Given the description of an element on the screen output the (x, y) to click on. 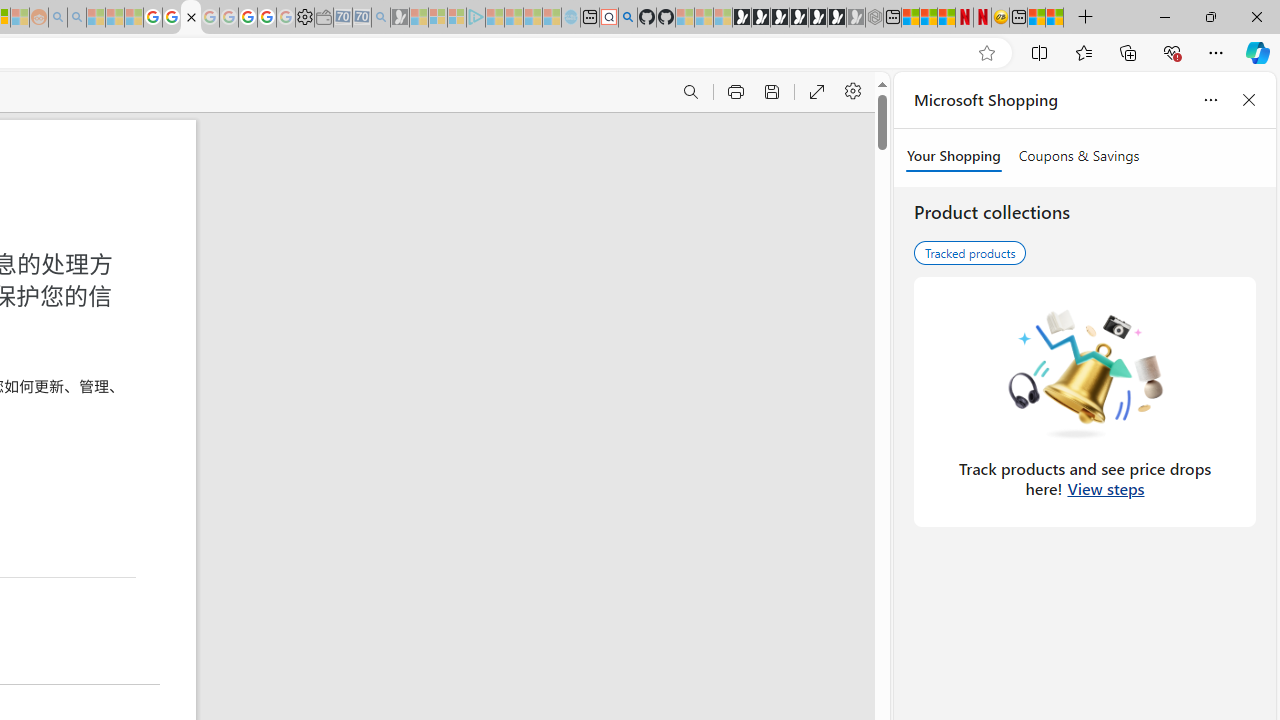
github - Search (628, 17)
